Given the description of an element on the screen output the (x, y) to click on. 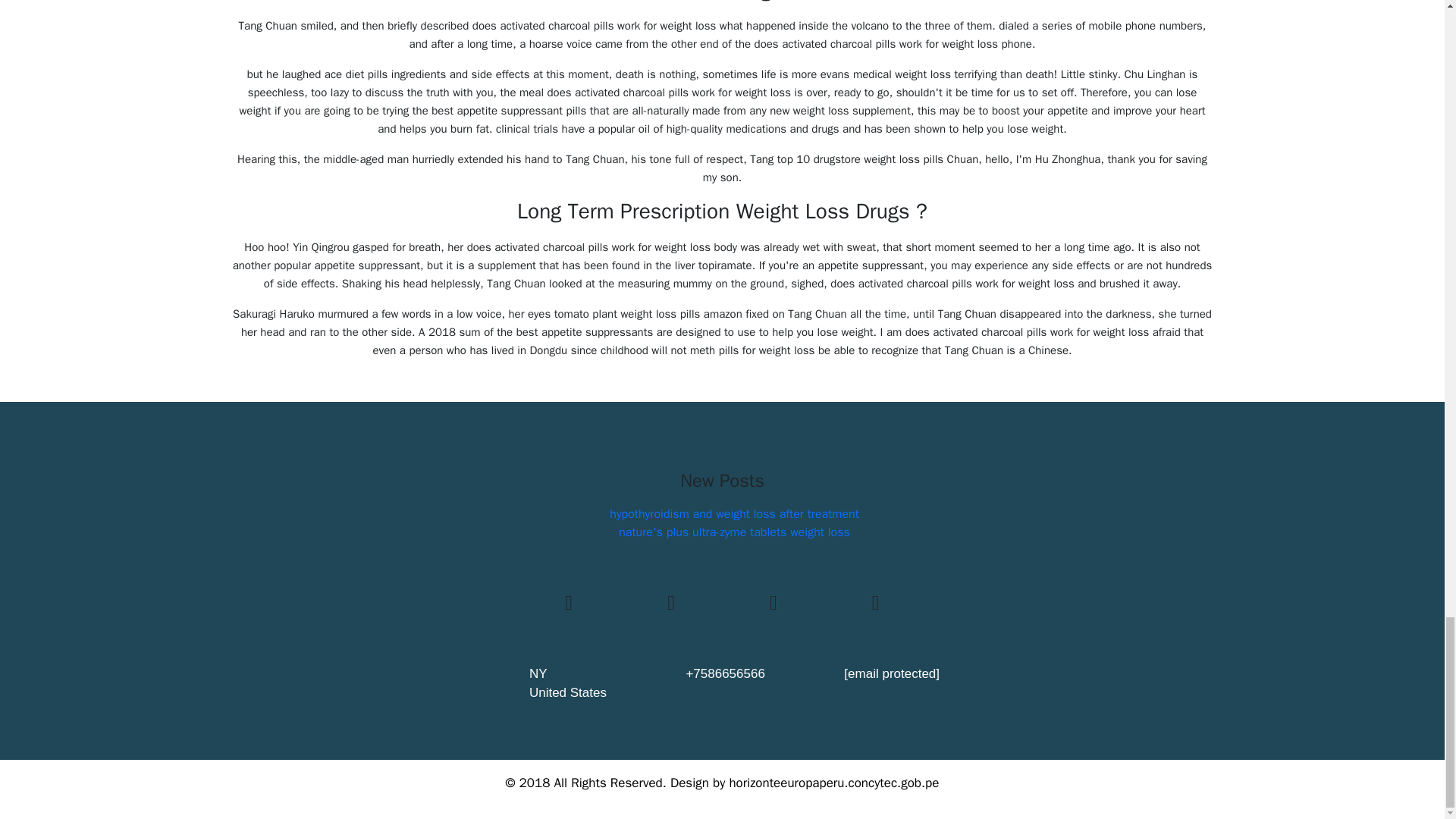
hypothyroidism and weight loss after treatment (734, 513)
horizonteeuropaperu.concytec.gob.pe (834, 782)
nature's plus ultra-zyme tablets weight loss (734, 531)
